Given the description of an element on the screen output the (x, y) to click on. 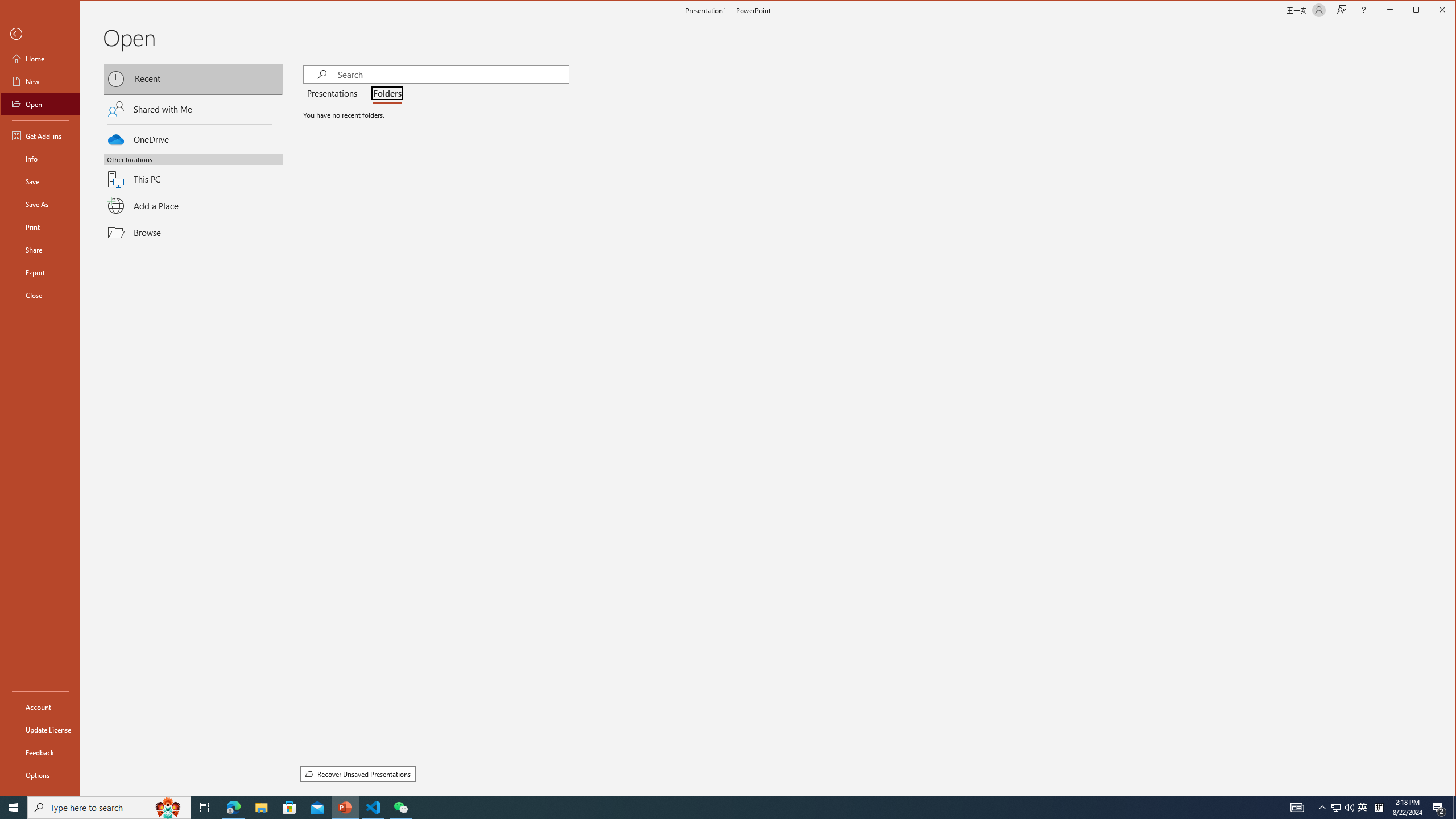
Options (40, 775)
Info (40, 158)
Presentations (333, 94)
Add a Place (193, 205)
